Given the description of an element on the screen output the (x, y) to click on. 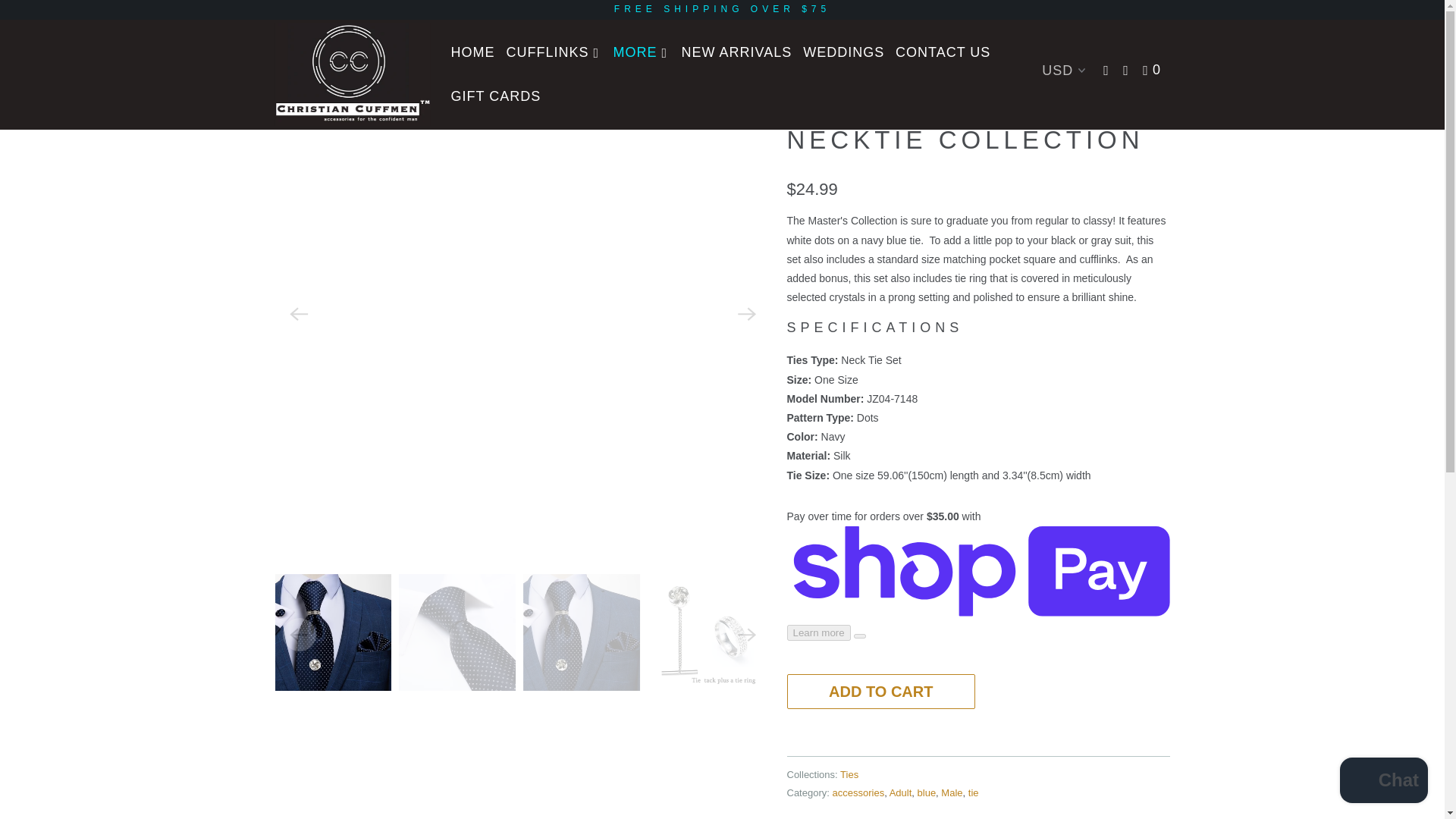
Ties (319, 50)
HOME (471, 51)
Christian Cuffmen (288, 50)
Next (337, 25)
Ties (849, 774)
Products tagged Adult (900, 792)
Products tagged accessories (858, 792)
Christian Cuffmen (352, 73)
Previous (295, 25)
The Master's Silk Necktie Collection (523, 78)
